Given the description of an element on the screen output the (x, y) to click on. 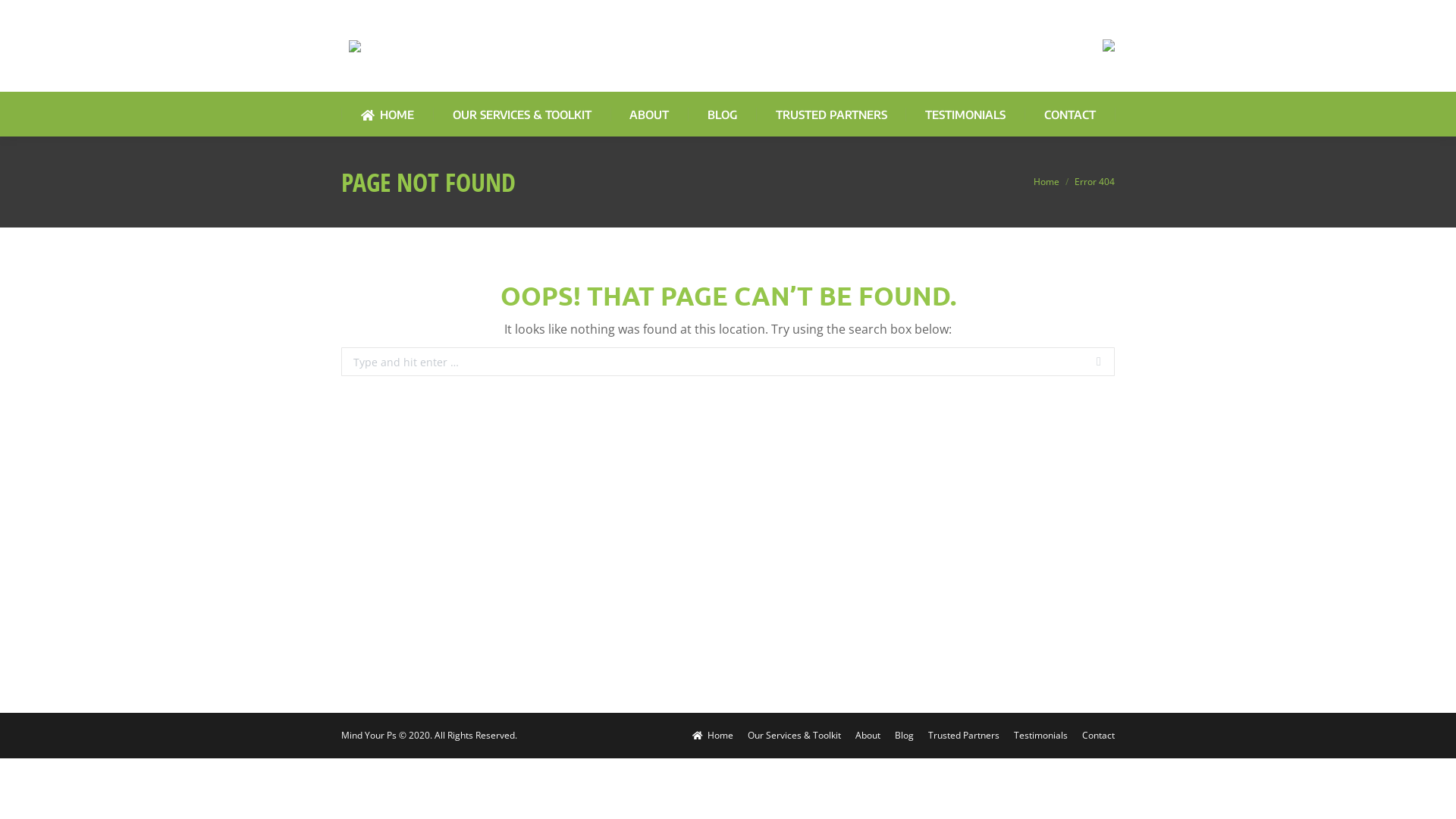
Testimonials Element type: text (1040, 735)
Go! Element type: text (1137, 362)
BLOG Element type: text (722, 114)
About Element type: text (867, 735)
Home Element type: text (712, 735)
TRUSTED PARTNERS Element type: text (831, 114)
Our Services & Toolkit Element type: text (793, 735)
Home Element type: text (1046, 181)
ABOUT Element type: text (648, 114)
Blog Element type: text (903, 735)
HOME Element type: text (387, 114)
OUR SERVICES & TOOLKIT Element type: text (521, 114)
CONTACT Element type: text (1069, 114)
Contact Element type: text (1098, 735)
TESTIMONIALS Element type: text (965, 114)
Trusted Partners Element type: text (963, 735)
